Given the description of an element on the screen output the (x, y) to click on. 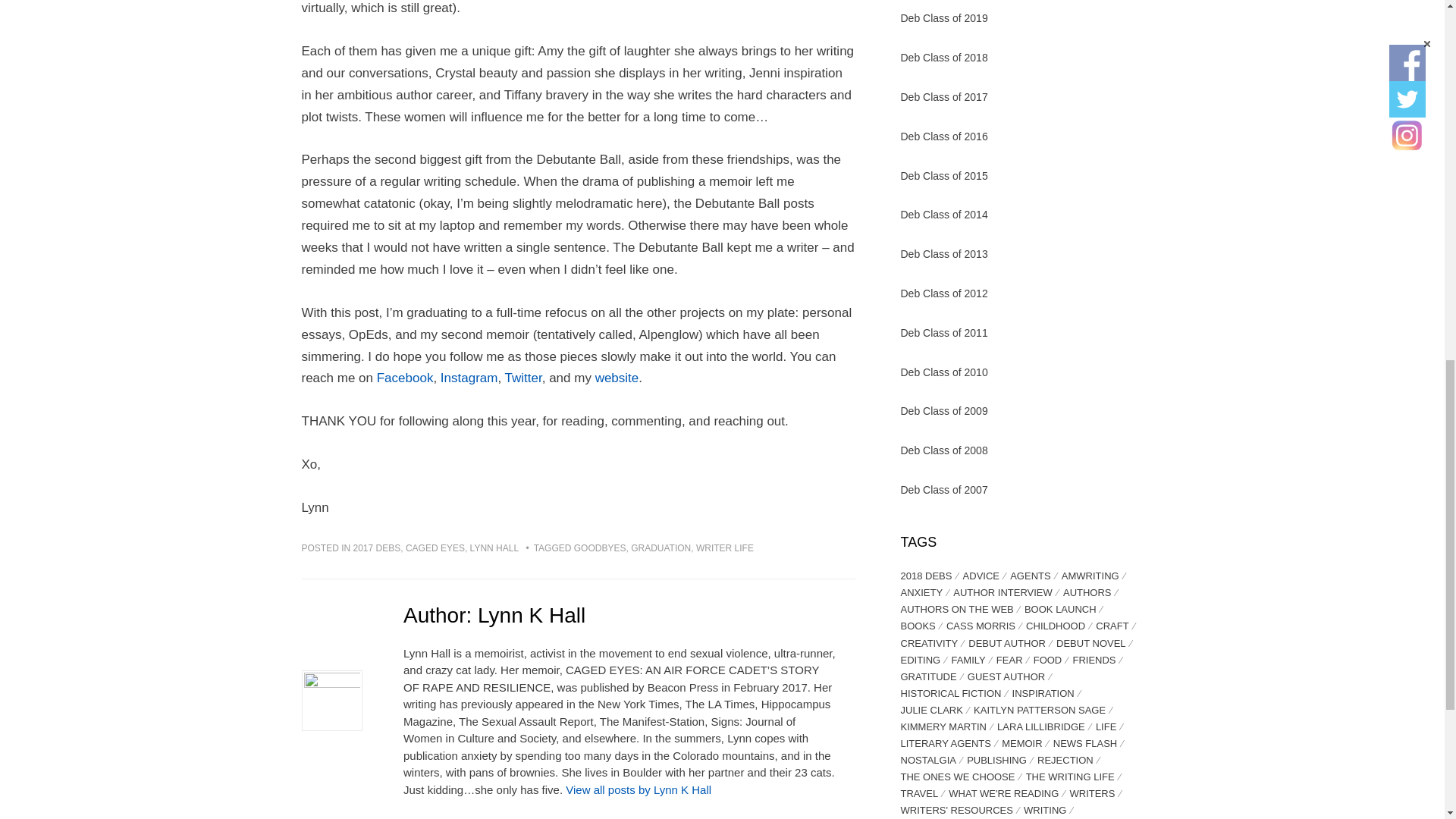
Facebook (405, 377)
Deb Class of 2014 (944, 214)
Deb Class of 2016 (944, 136)
website (617, 377)
Deb Class of 2019 (944, 18)
2017 DEBS (377, 547)
CAGED EYES (435, 547)
View all posts by Lynn K Hall (638, 789)
LYNN HALL (494, 547)
WRITER LIFE (724, 547)
